Given the description of an element on the screen output the (x, y) to click on. 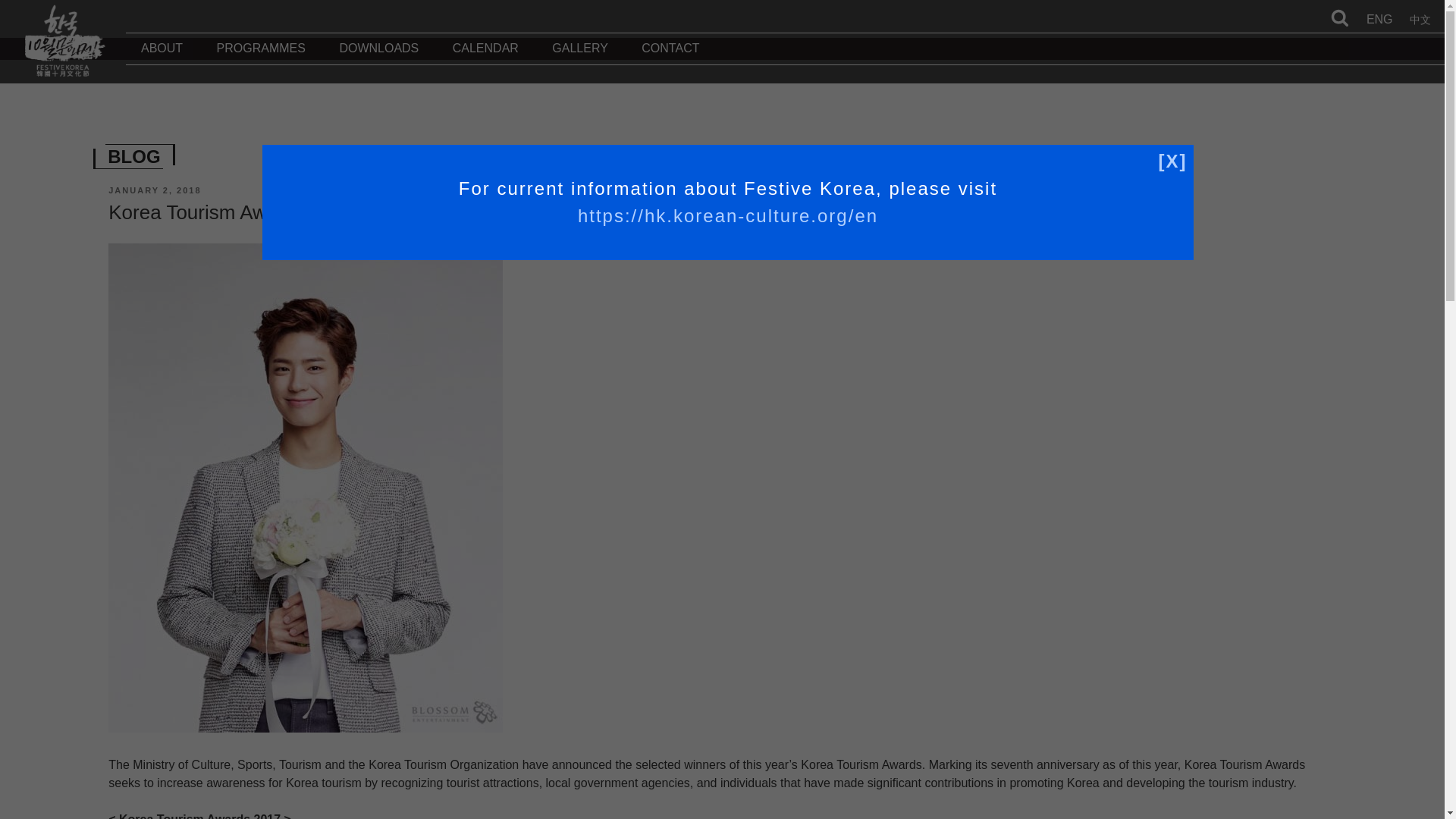
GALLERY (580, 59)
DOWNLOADS (378, 59)
ENG (1379, 19)
PROGRAMMES (261, 59)
JANUARY 2, 2018 (153, 189)
ABOUT (161, 59)
CONTACT (670, 59)
CALENDAR (486, 59)
ENG (1379, 19)
